Given the description of an element on the screen output the (x, y) to click on. 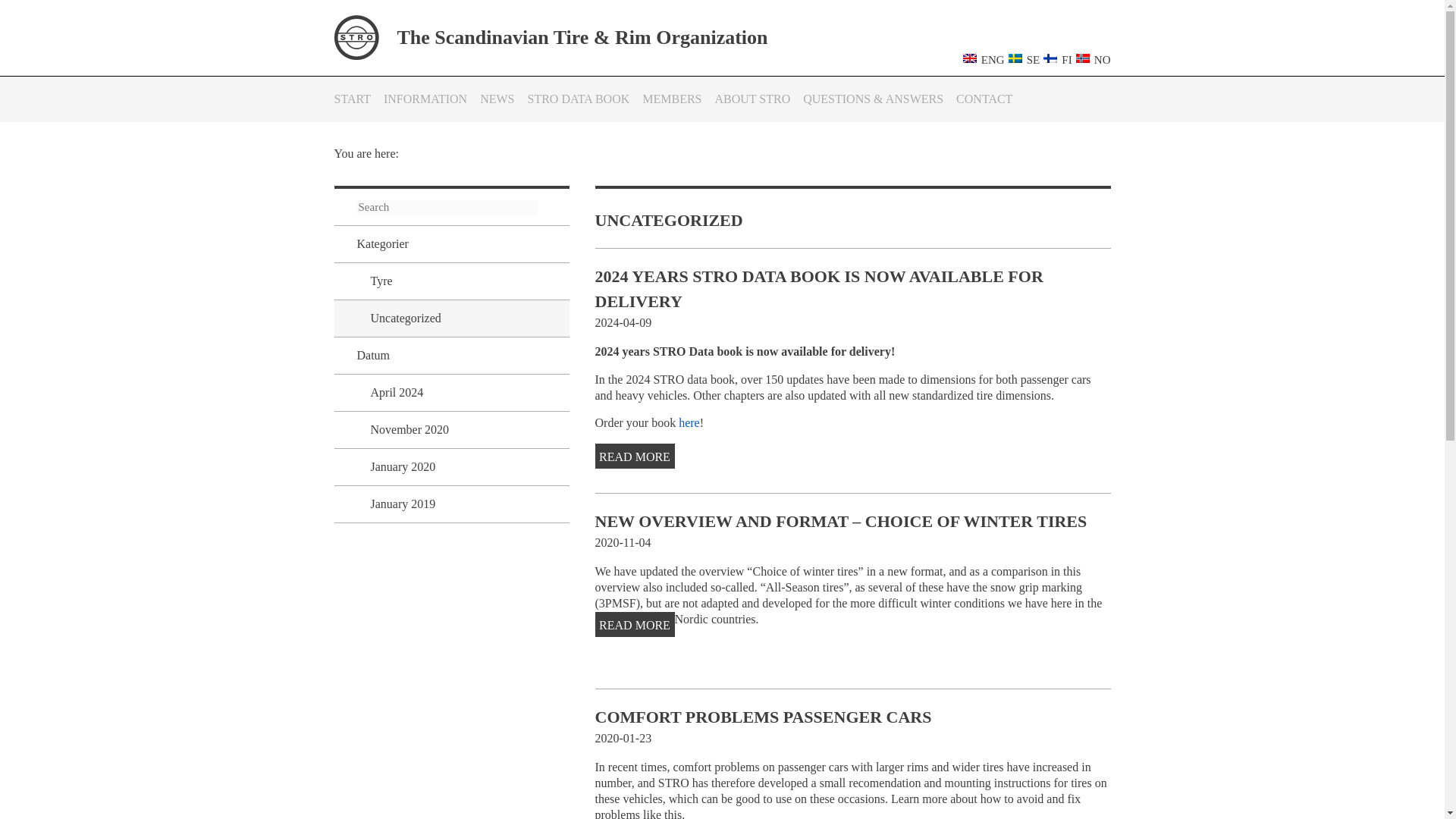
SE (1015, 58)
STRO DATA BOOK (578, 99)
CONTACT (983, 99)
INFORMATION (425, 99)
  SE (1022, 59)
  FI (1055, 59)
  ENG (981, 59)
  NO (1090, 59)
FI (1050, 58)
ENG (969, 58)
